Given the description of an element on the screen output the (x, y) to click on. 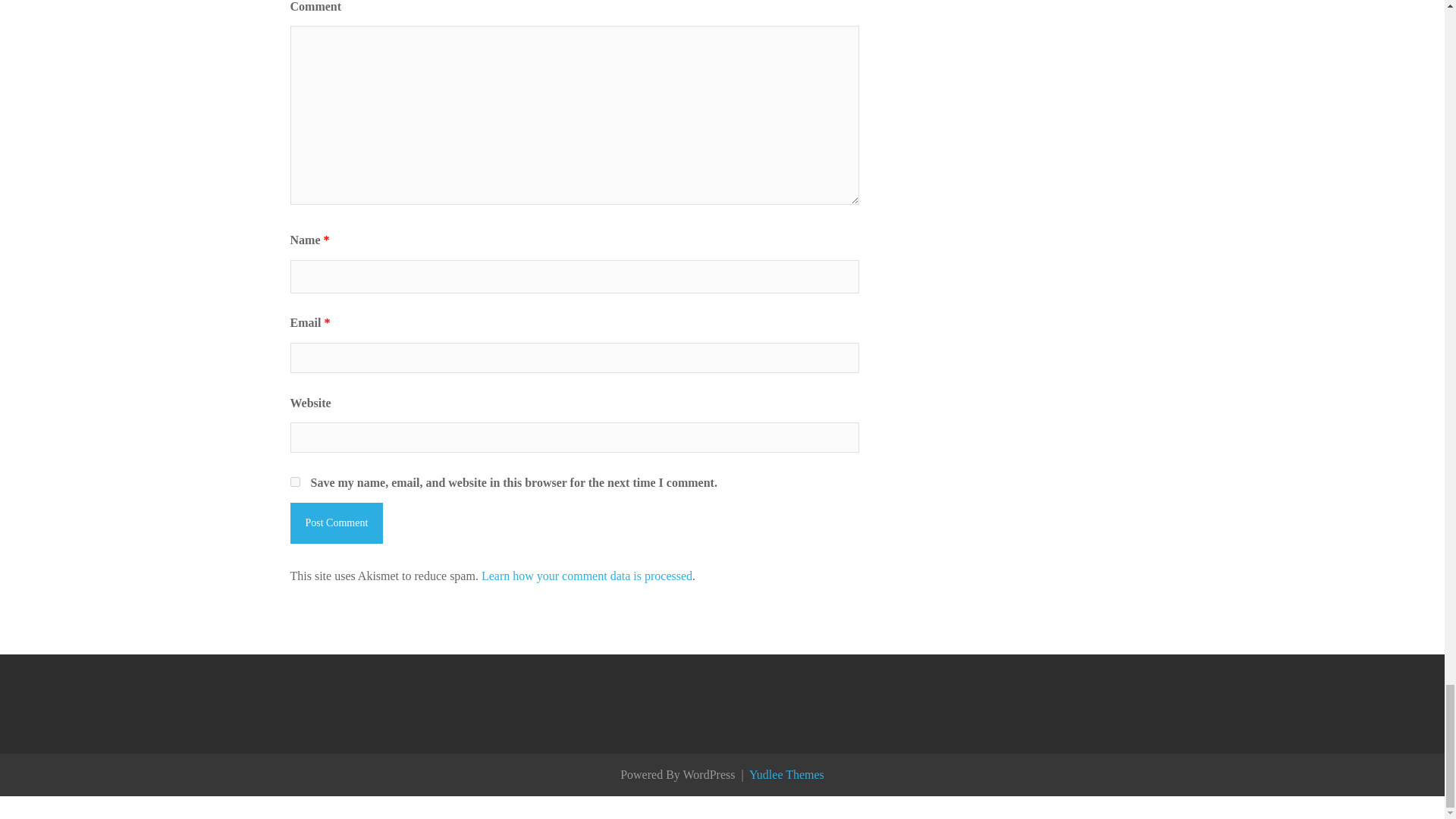
Post Comment (335, 522)
Learn how your comment data is processed (587, 575)
yes (294, 481)
Post Comment (335, 522)
